Given the description of an element on the screen output the (x, y) to click on. 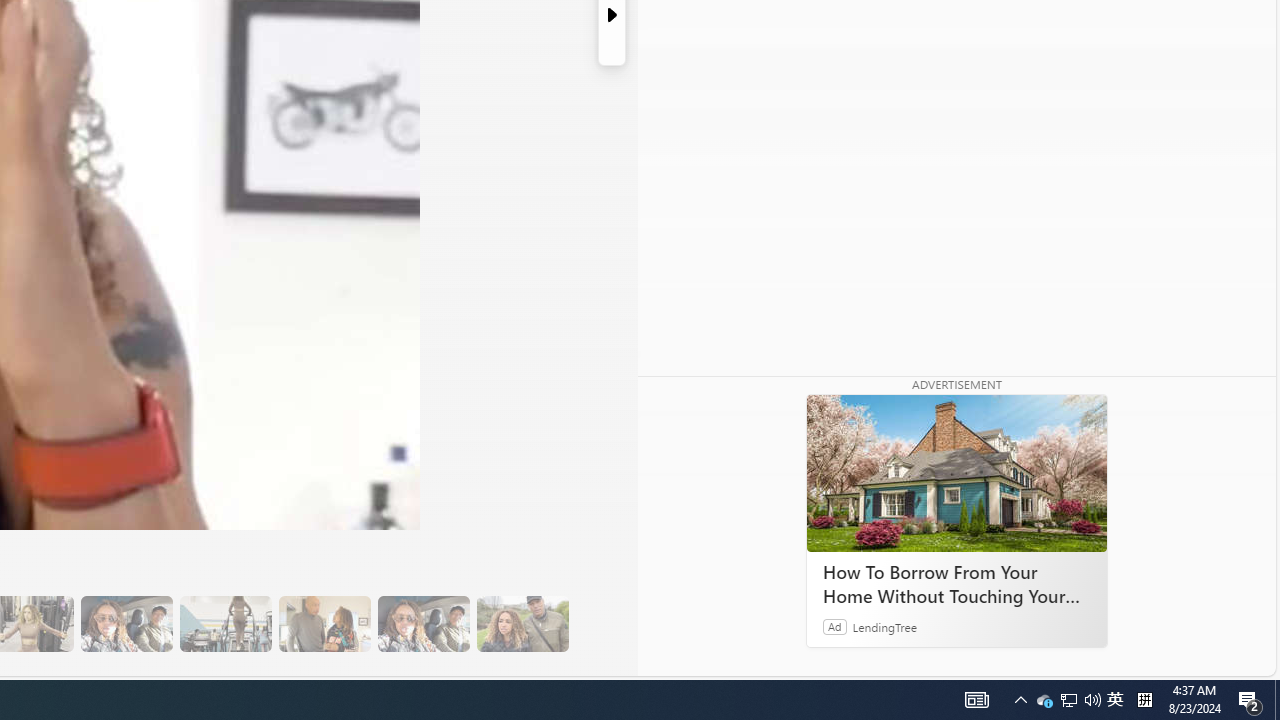
20 Overall, It Will Improve Your Health (522, 624)
19 It Also Simplifies Thiings (423, 624)
LendingTree (884, 626)
How To Borrow From Your Home Without Touching Your Mortgage (956, 583)
18 It's More Fun Doing It with Someone Else (324, 624)
Feedback (1199, 659)
19 It Also Simplifies Thiings (423, 624)
How To Borrow From Your Home Without Touching Your Mortgage (956, 473)
16 The Couple's Program Helps with Accountability (125, 624)
16 The Couple's Program Helps with Accountability (125, 624)
18 It's More Fun Doing It with Someone Else (324, 624)
Ad (835, 626)
